Given the description of an element on the screen output the (x, y) to click on. 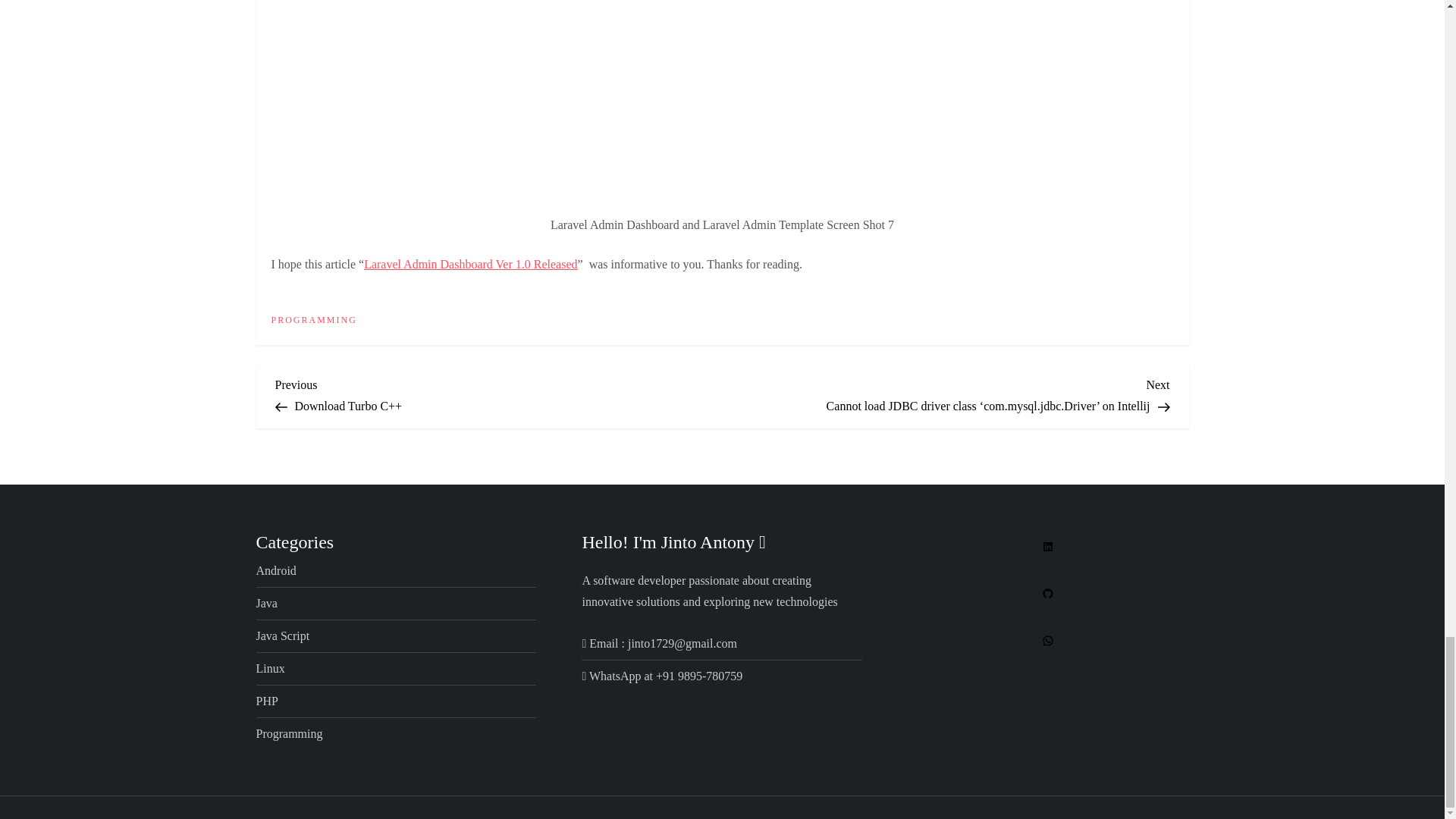
Java (267, 603)
Android (276, 570)
Java Script (283, 636)
PROGRAMMING (313, 320)
Linux (270, 668)
Laravel Admin Dashboard Ver 1.0 Released (470, 264)
